Given the description of an element on the screen output the (x, y) to click on. 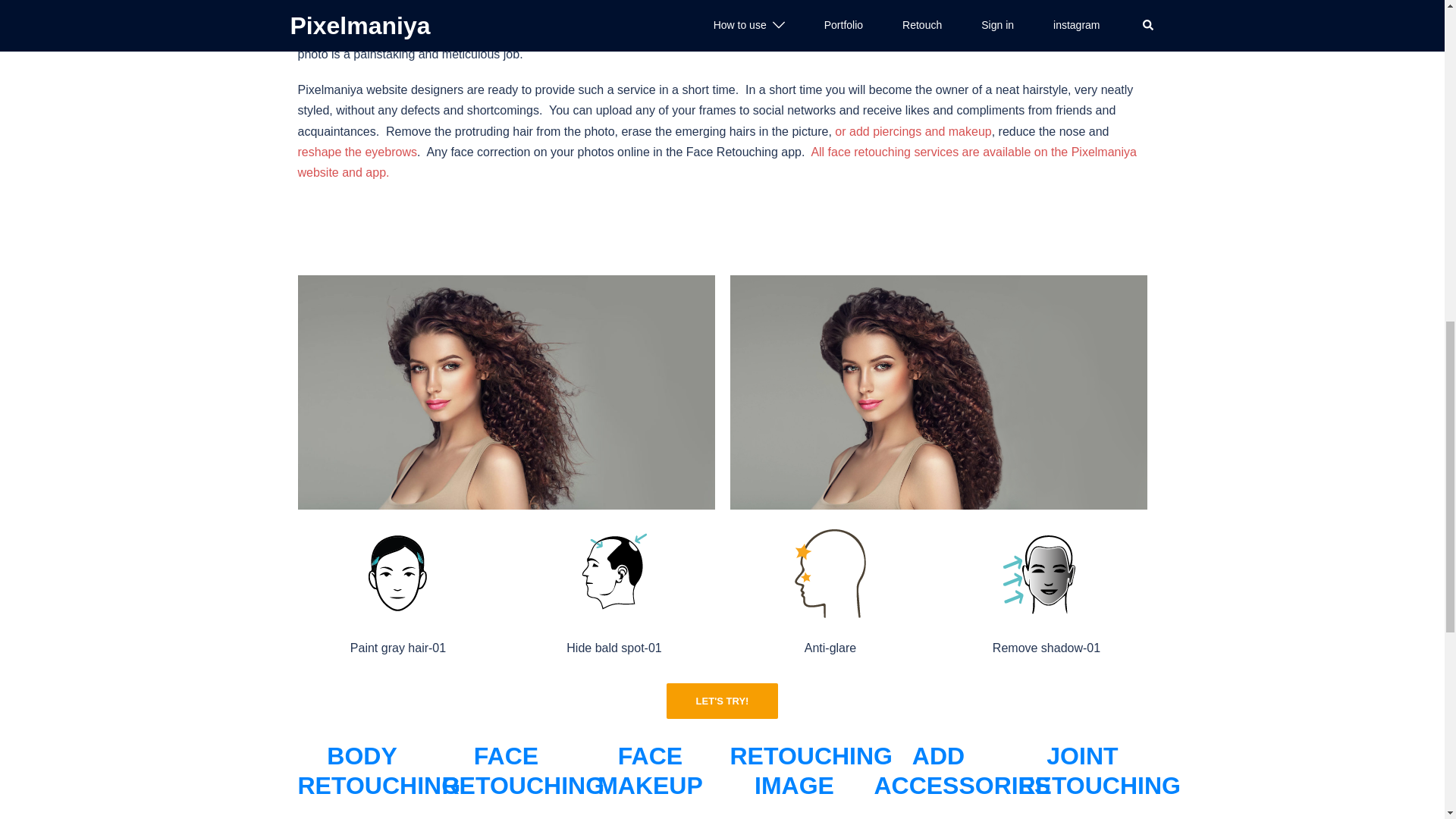
BODY RETOUCHING (361, 771)
JOINT RETOUCHING (1082, 771)
or add piercings and makeup (912, 131)
RETOUCHING IMAGE (794, 771)
LET'S TRY! (722, 701)
FACE MAKEUP (649, 771)
reshape the eyebrows (356, 151)
ADD ACCESSORIES (938, 771)
FACE RETOUCHING (505, 771)
